Given the description of an element on the screen output the (x, y) to click on. 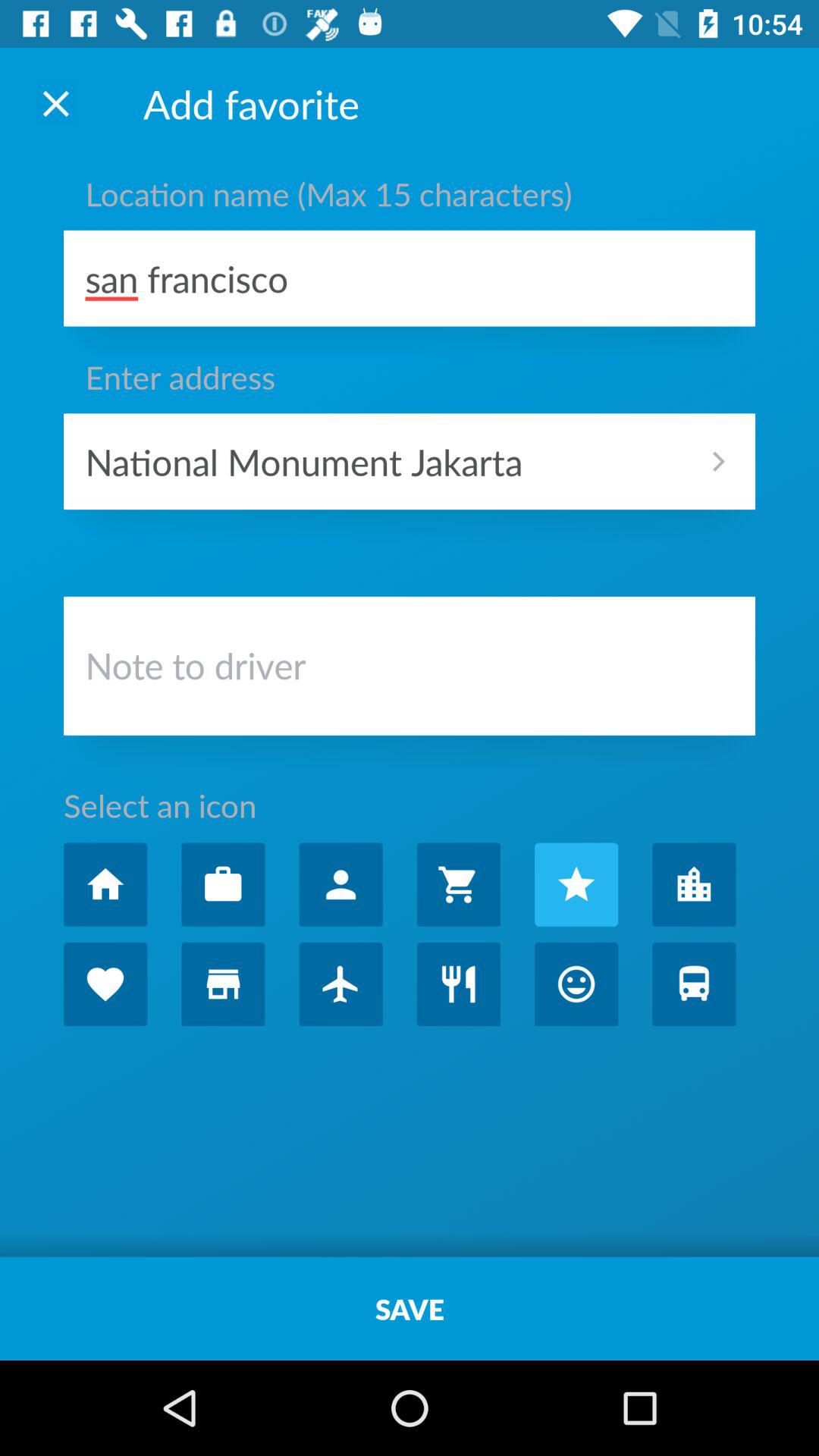
text field (409, 669)
